Given the description of an element on the screen output the (x, y) to click on. 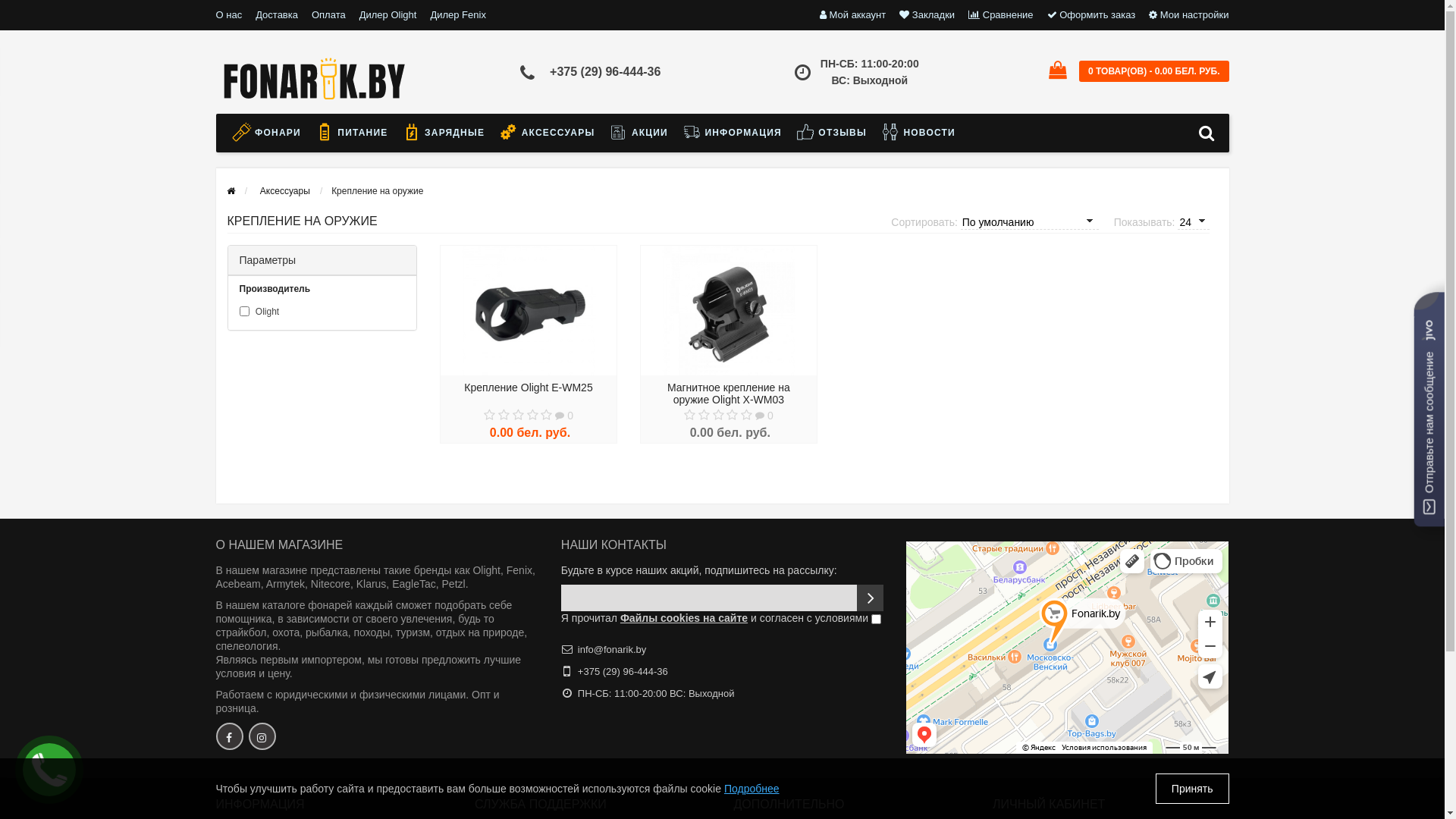
  Element type: text (228, 735)
Facebook Element type: hover (228, 735)
Fonarik.by Element type: hover (313, 81)
+375 (29) 96-444-36 Element type: text (604, 71)
+375 (29) 96-444-36 Element type: text (622, 671)
Instagram Element type: hover (262, 735)
info@fonarik.by Element type: text (611, 649)
  Element type: text (262, 735)
